Given the description of an element on the screen output the (x, y) to click on. 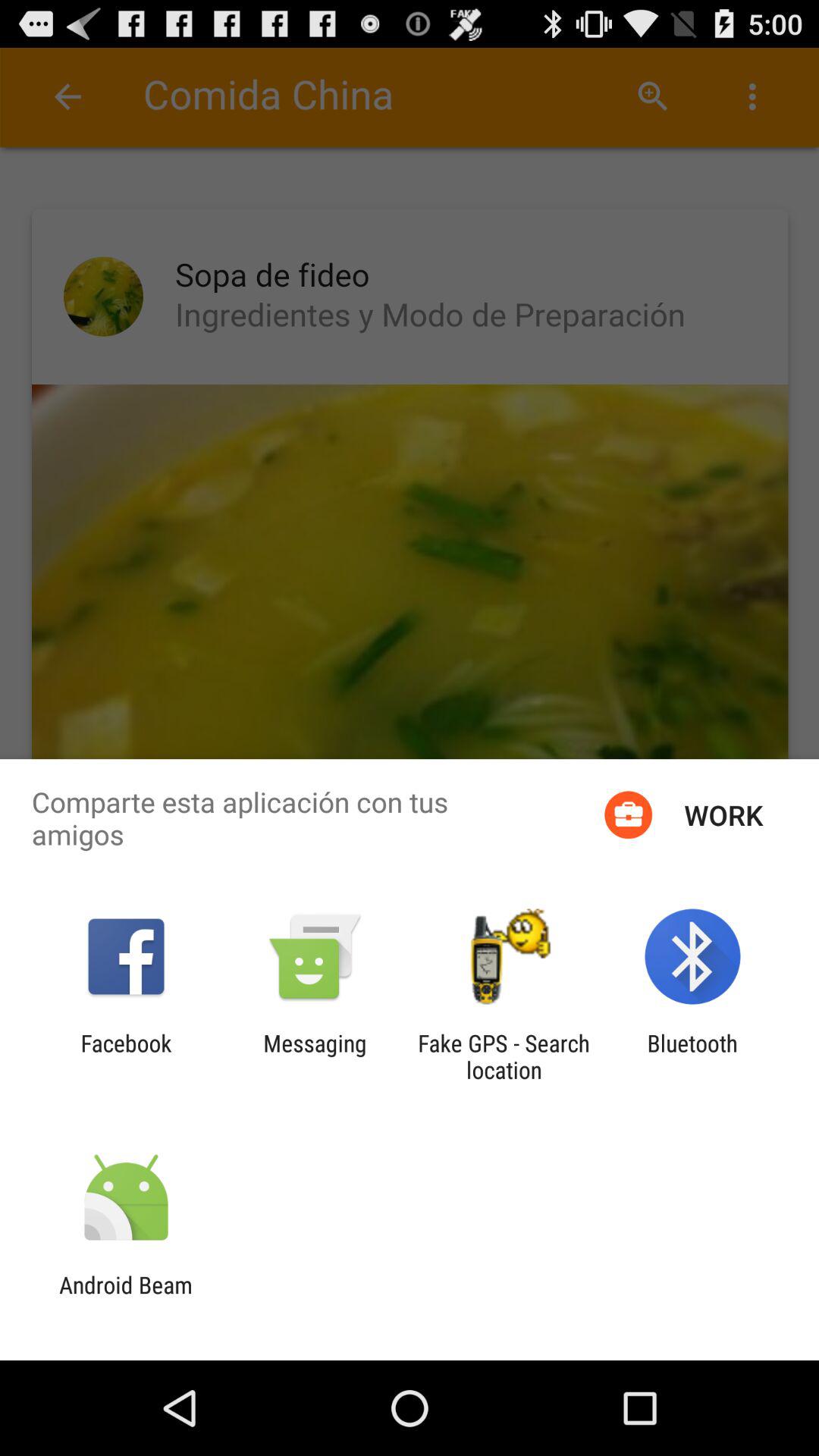
turn off item to the right of the facebook icon (314, 1056)
